Given the description of an element on the screen output the (x, y) to click on. 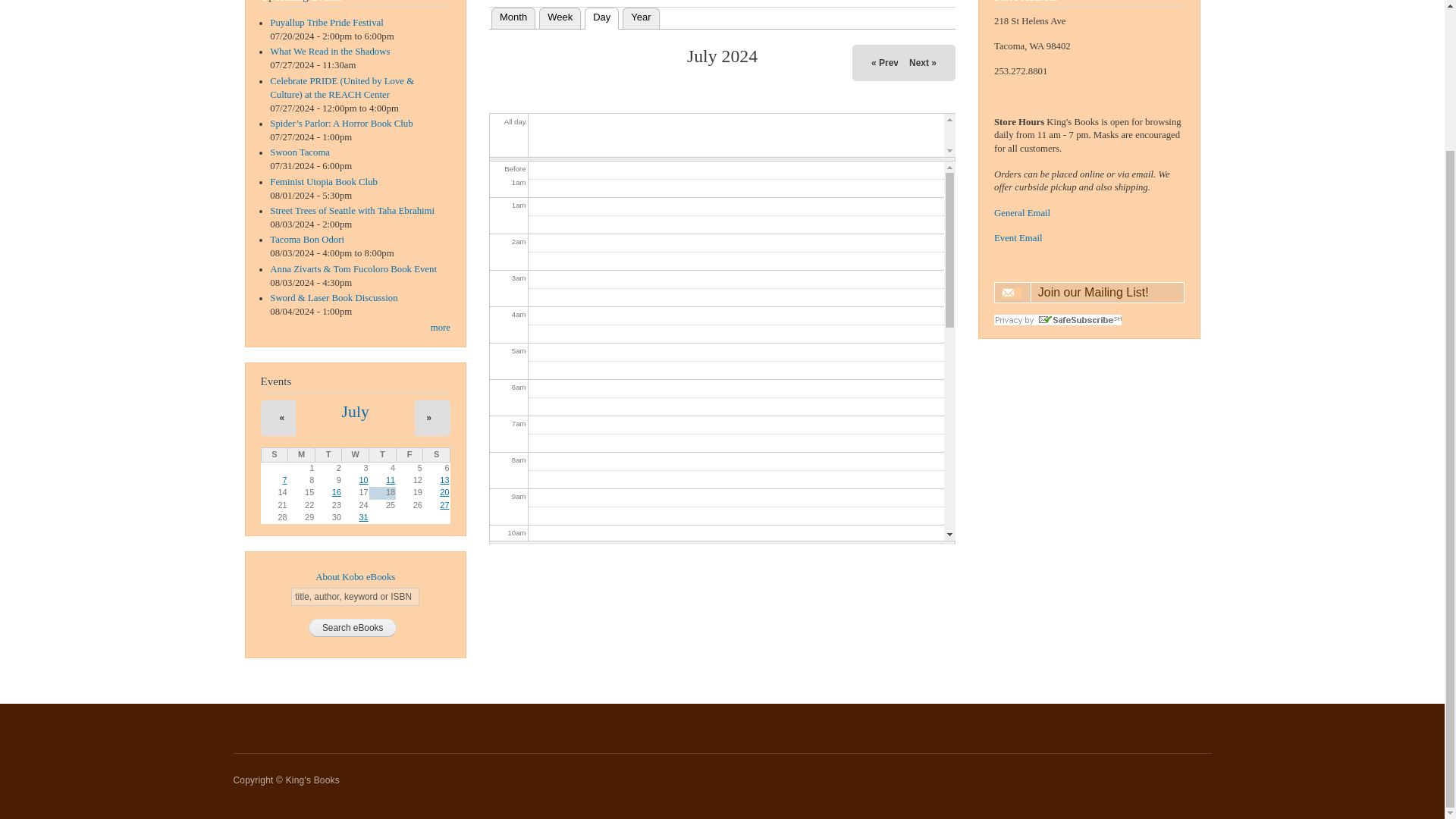
Month (513, 17)
Navigate to previous month (282, 418)
Navigate to next month (922, 62)
Swoon Tacoma (299, 152)
View full page month (355, 411)
King's Books Query (1021, 213)
Search eBooks (352, 628)
Enter title, author, keyword or ISBN. (355, 597)
Puyallup Tribe Pride Festival (325, 22)
Navigate to next month (428, 418)
Year (641, 17)
Week (559, 17)
What We Read in the Shadows (329, 50)
title, author, keyword or ISBN (355, 597)
Navigate to previous month (885, 62)
